Given the description of an element on the screen output the (x, y) to click on. 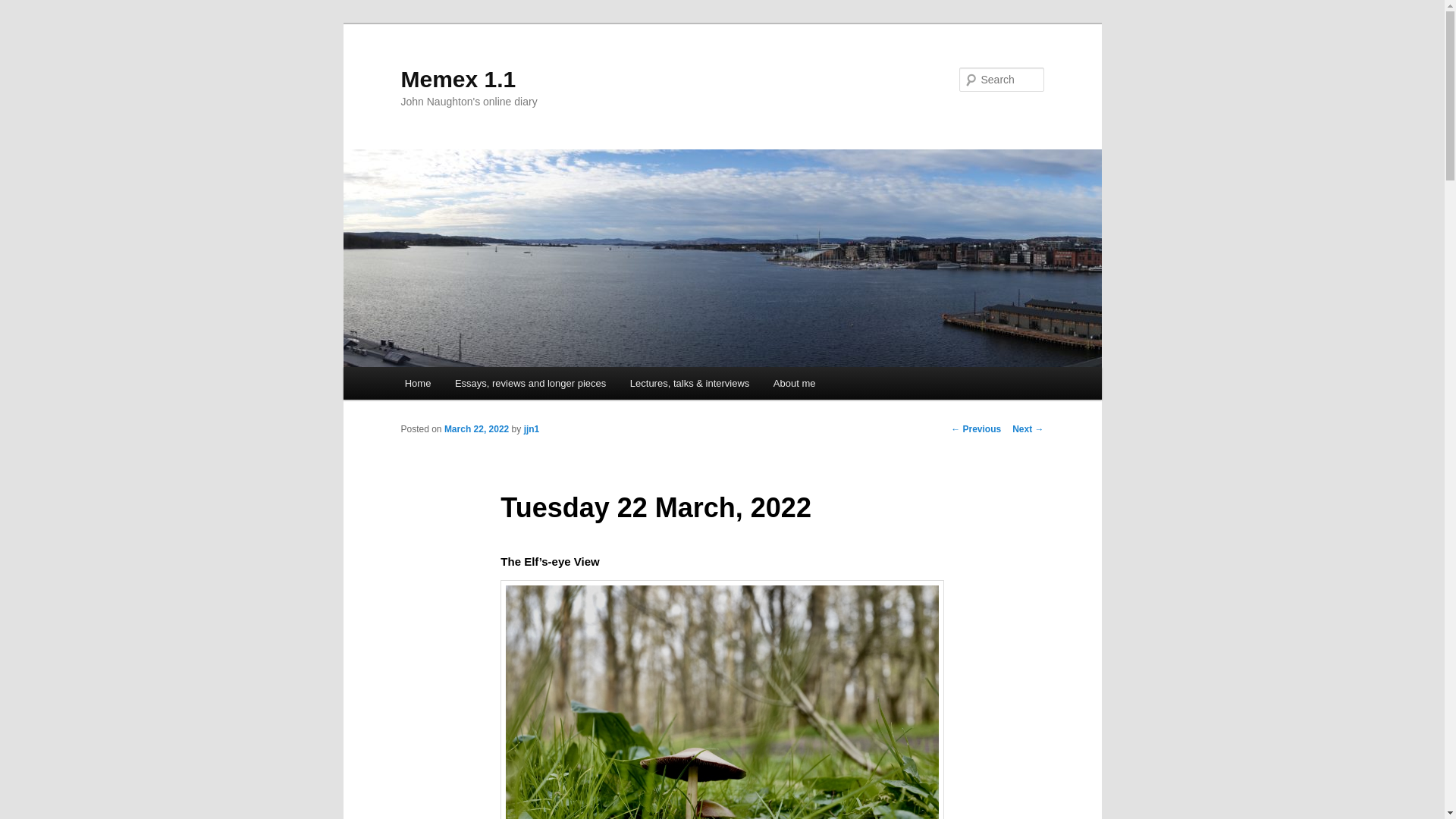
Home (417, 382)
jjn1 (532, 429)
About me (794, 382)
Essays, reviews and longer pieces (529, 382)
Memex 1.1 (457, 78)
Search (24, 8)
March 22, 2022 (476, 429)
